Given the description of an element on the screen output the (x, y) to click on. 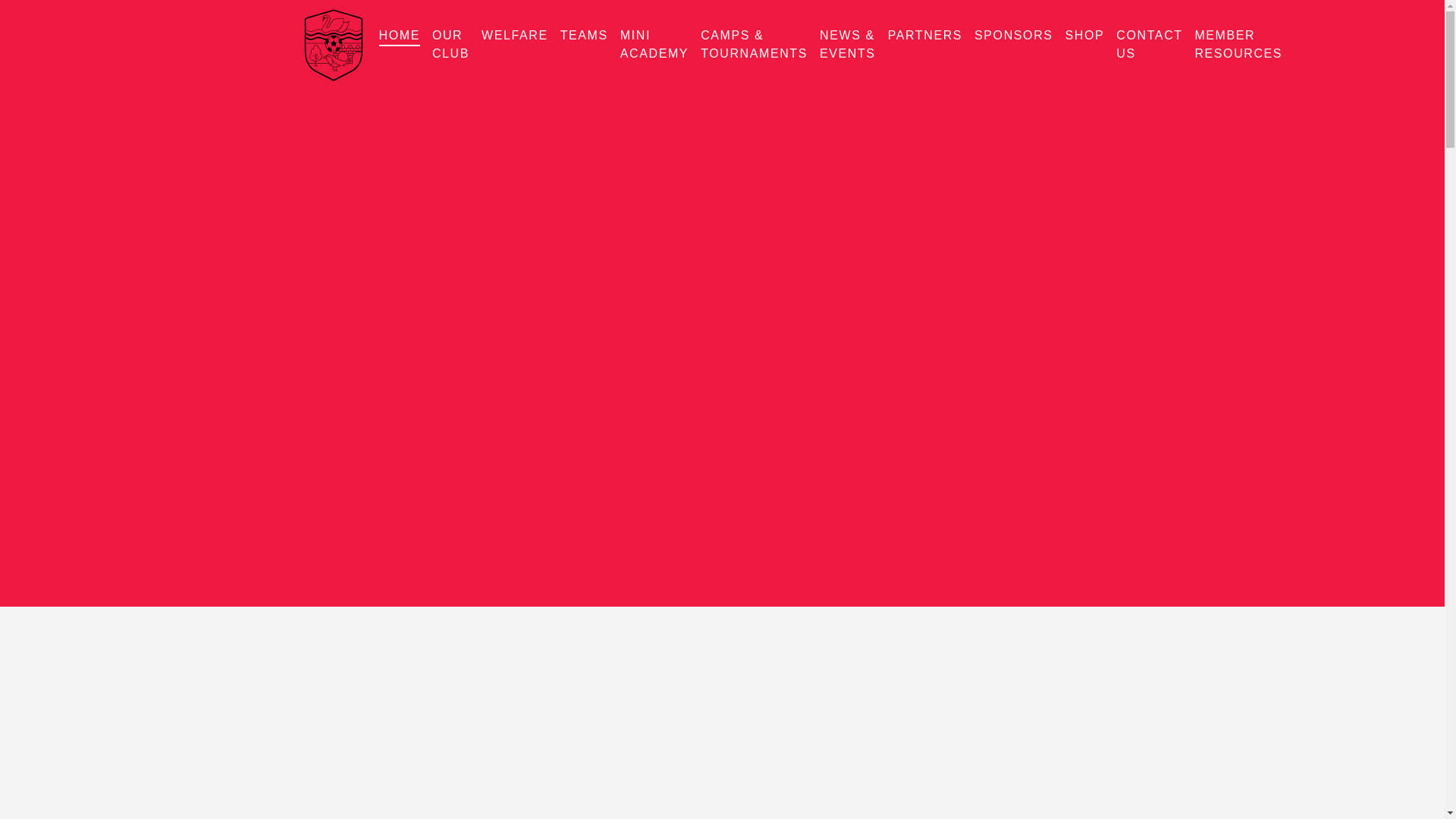
PARTNERS (925, 35)
SPONSORS (1013, 35)
MINI ACADEMY (654, 45)
WELFARE (514, 35)
OUR CLUB (450, 45)
HOME (399, 35)
MEMBER RESOURCES (1237, 45)
TEAMS (584, 35)
SHOP (1085, 35)
CONTACT US (1149, 45)
